Given the description of an element on the screen output the (x, y) to click on. 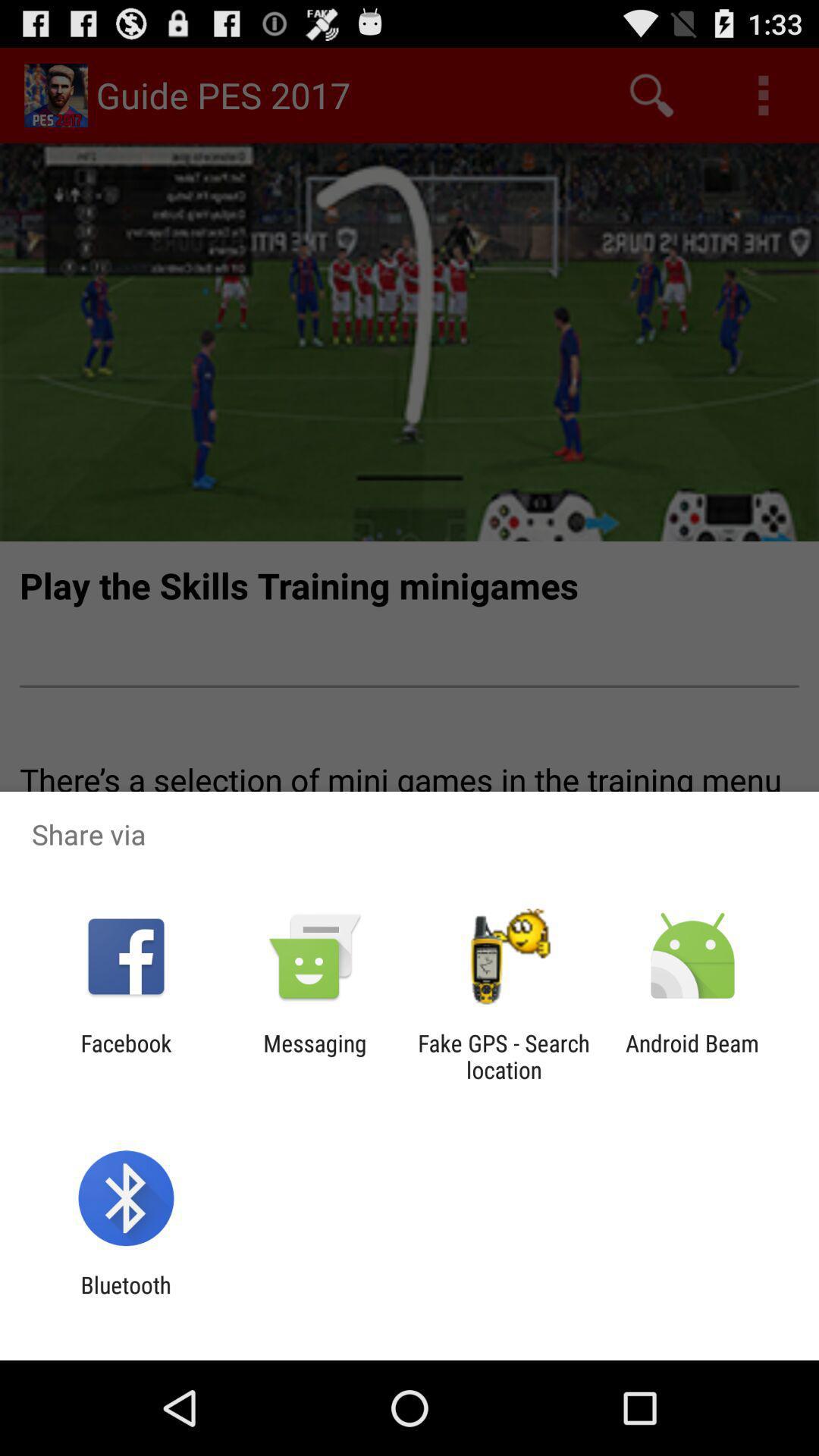
click app at the bottom right corner (692, 1056)
